Given the description of an element on the screen output the (x, y) to click on. 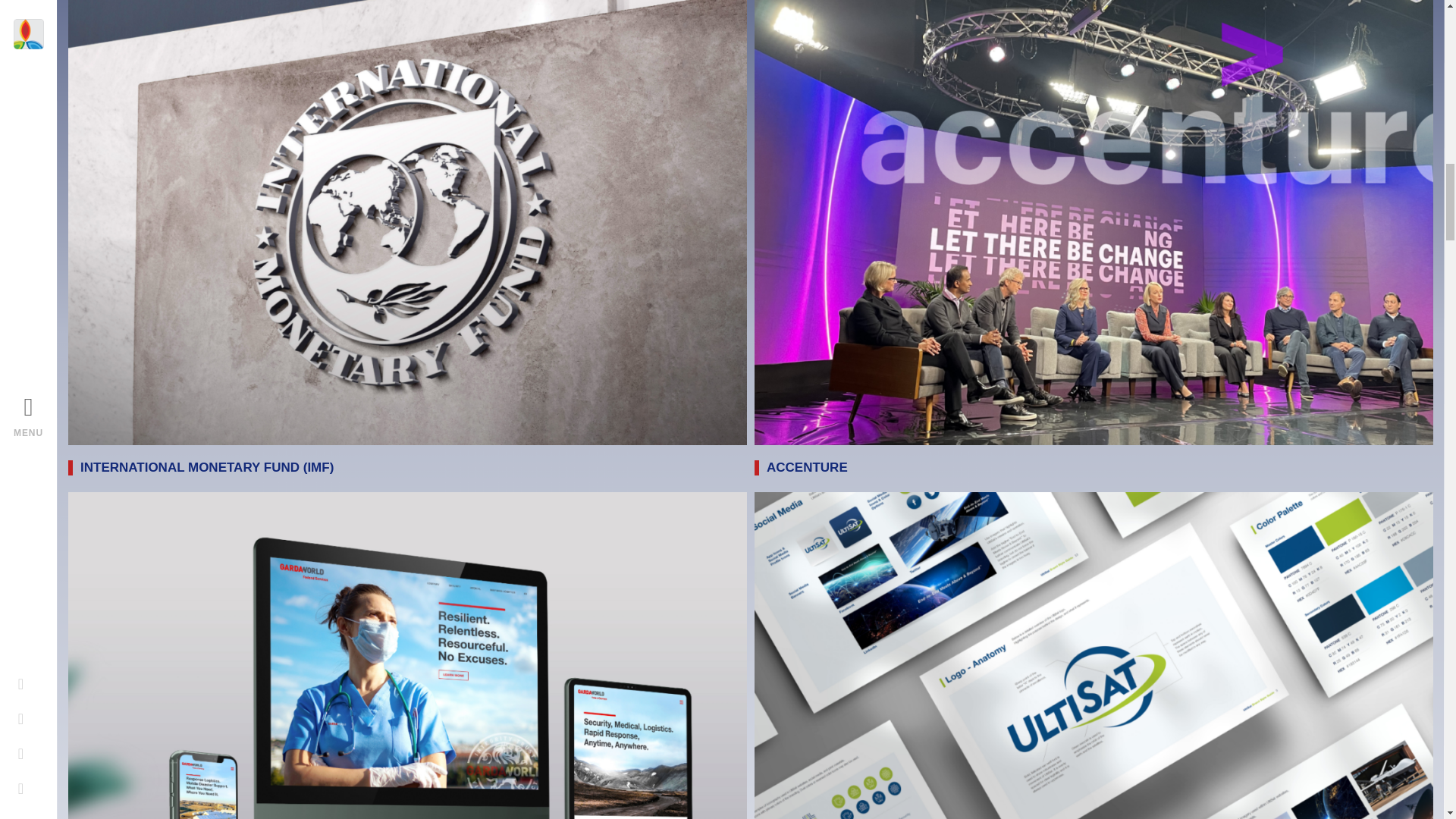
ACCENTURE (807, 467)
